Given the description of an element on the screen output the (x, y) to click on. 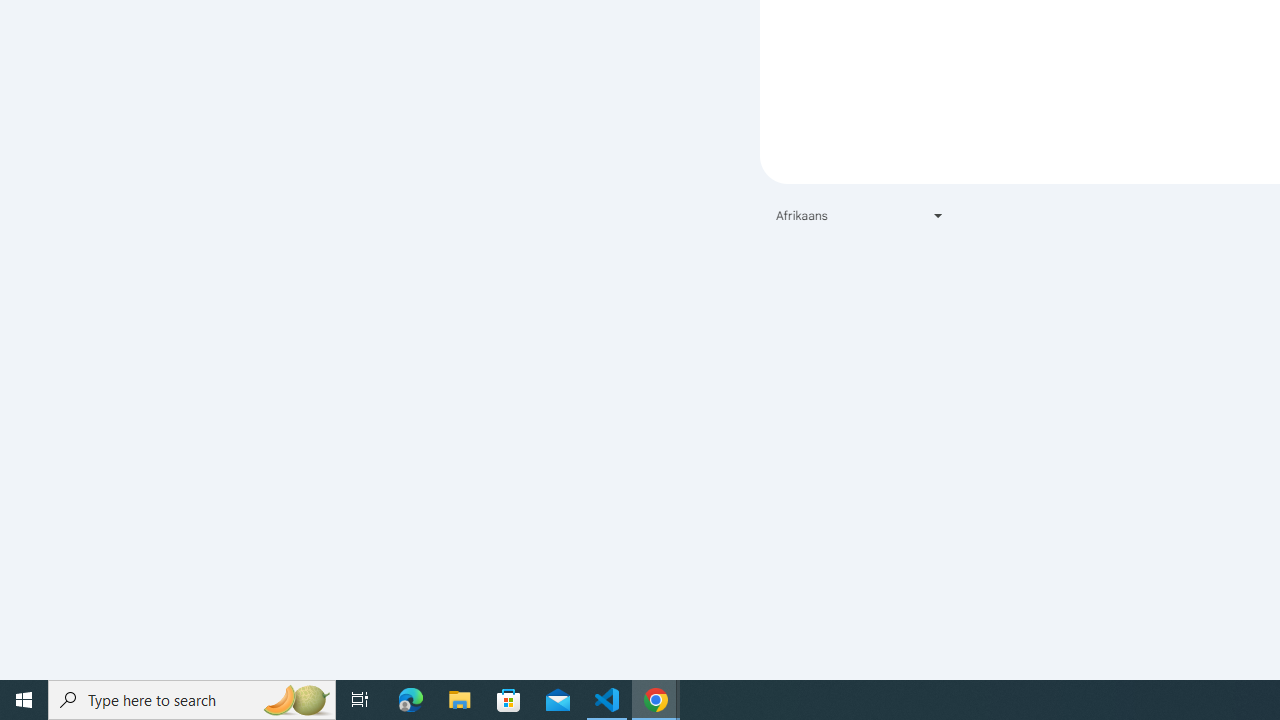
Type here to search (191, 699)
Search highlights icon opens search home window (295, 699)
Start (24, 699)
Visual Studio Code - 1 running window (607, 699)
Task View (359, 699)
Microsoft Edge (411, 699)
File Explorer (460, 699)
Google Chrome - 2 running windows (656, 699)
Microsoft Store (509, 699)
